Given the description of an element on the screen output the (x, y) to click on. 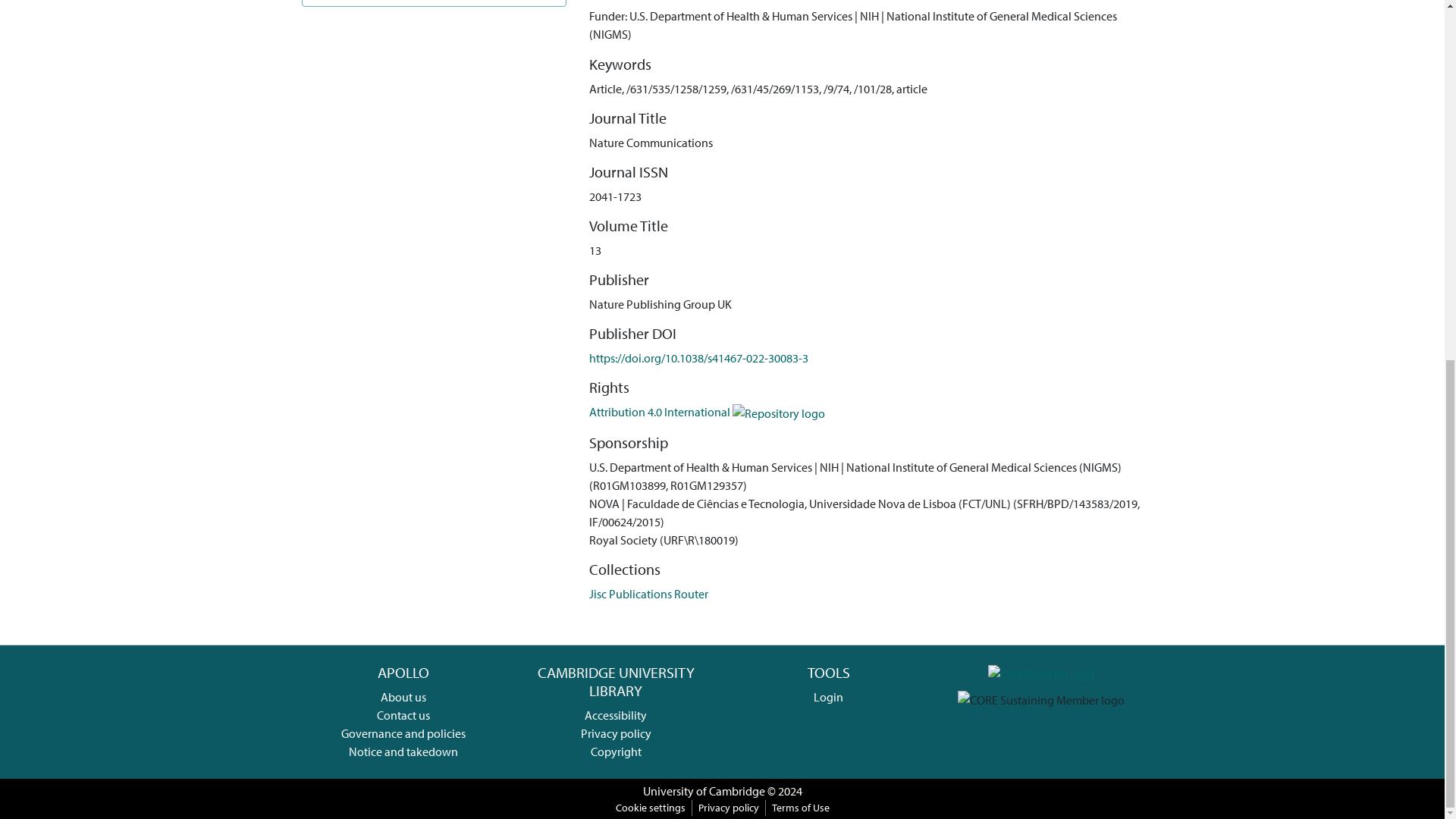
Jisc Publications Router (648, 593)
About us (403, 696)
Attribution 4.0 International (707, 411)
Apollo CTS full application (1041, 672)
Full item page (434, 3)
Contact us (403, 714)
